Given the description of an element on the screen output the (x, y) to click on. 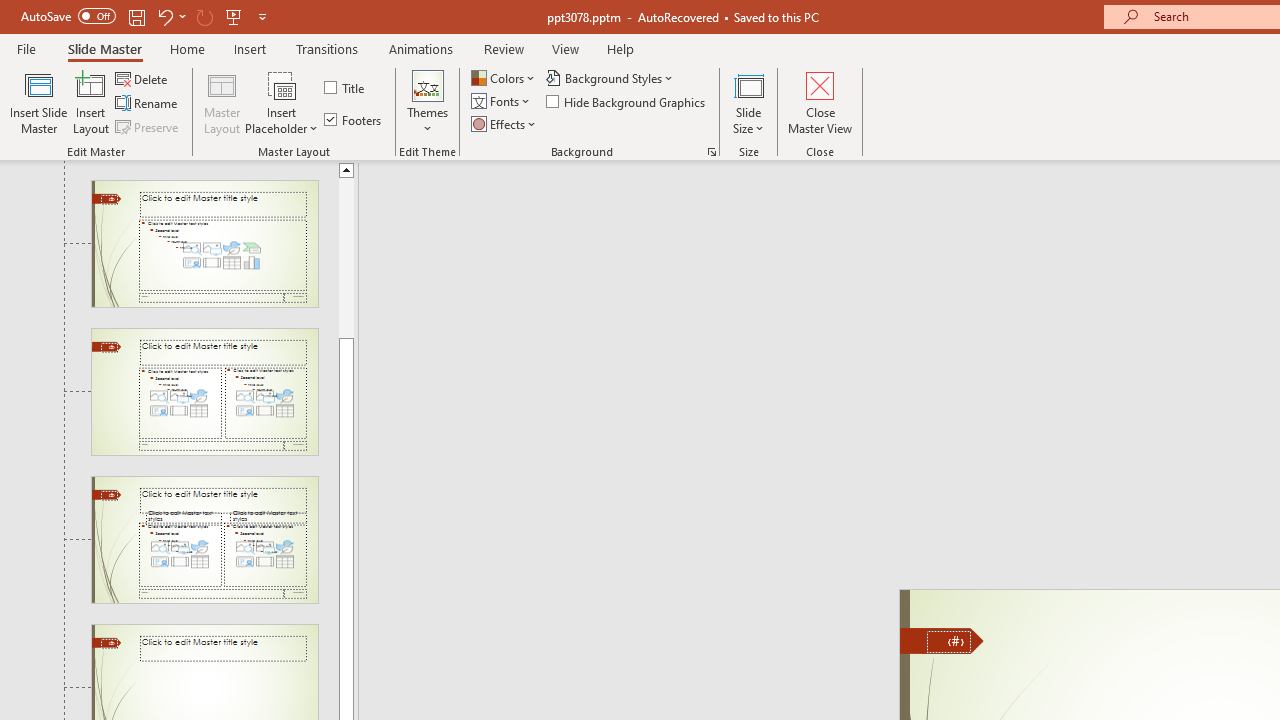
Freeform 11 (941, 640)
Background Styles (610, 78)
Insert Layout (91, 102)
Rename (148, 103)
Hide Background Graphics (626, 101)
Footers (354, 119)
Slide Title and Content Layout: used by no slides (204, 243)
Close Master View (820, 102)
